Given the description of an element on the screen output the (x, y) to click on. 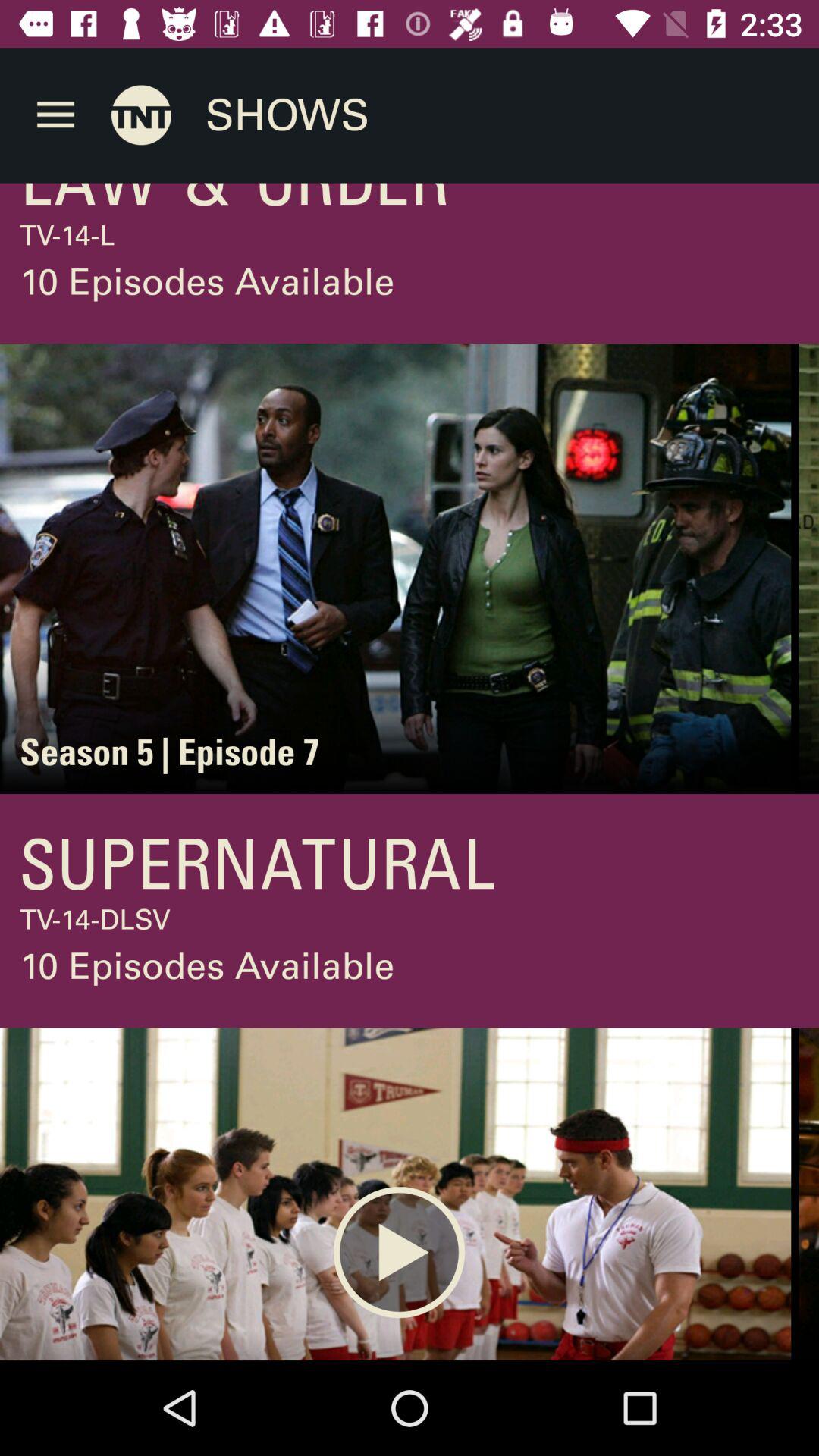
home back (141, 115)
